Given the description of an element on the screen output the (x, y) to click on. 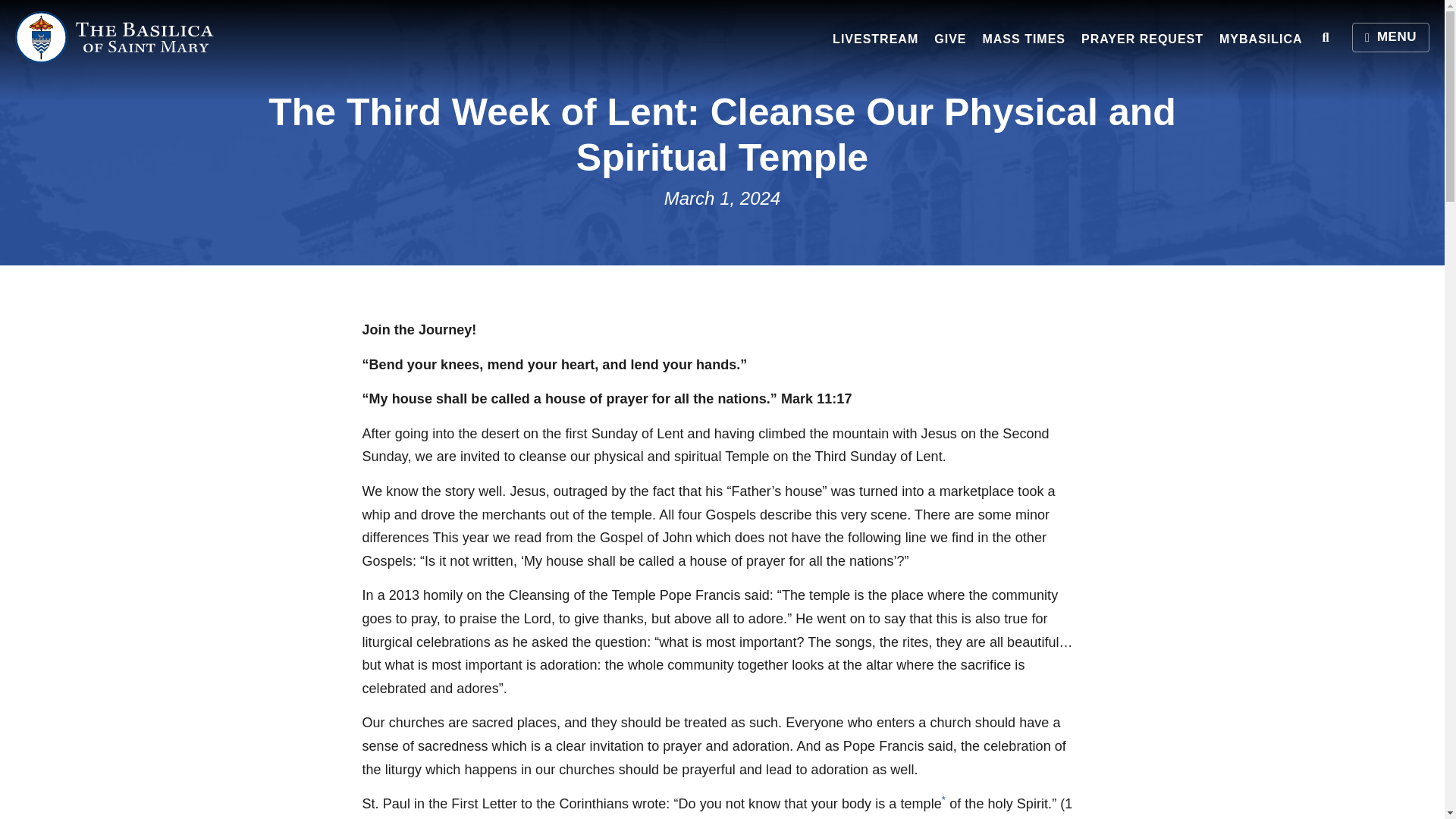
MASS TIMES (1023, 39)
GIVE (950, 39)
MYBASILICA (1260, 39)
LIVESTREAM (875, 39)
Basilica Logo 2 White (114, 37)
PRAYER REQUEST (1142, 39)
